Given the description of an element on the screen output the (x, y) to click on. 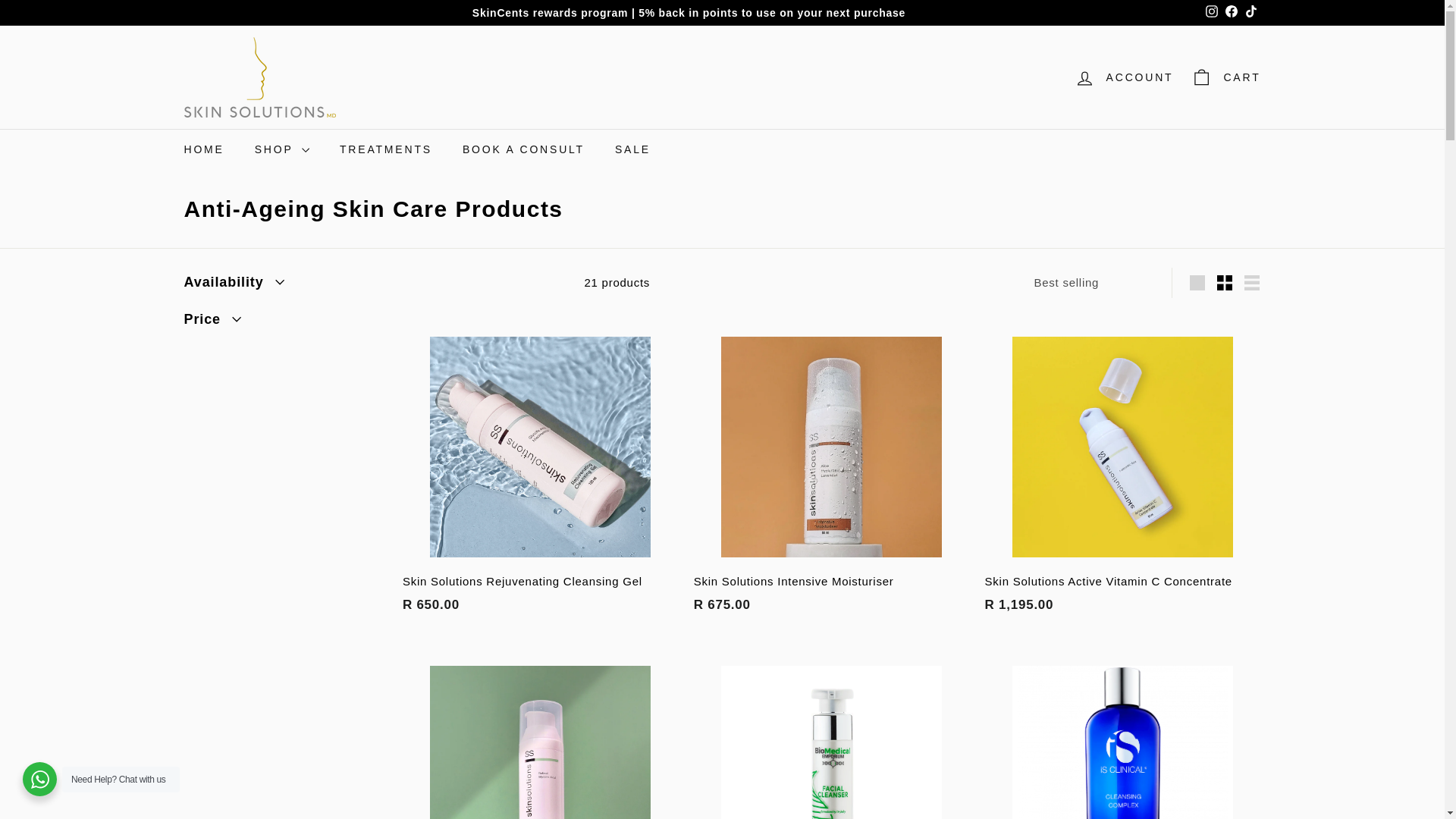
CART (1225, 76)
Small (1225, 282)
List (1252, 282)
instagram (1211, 10)
Large (1197, 282)
ACCOUNT (1123, 76)
HOME (203, 148)
